Given the description of an element on the screen output the (x, y) to click on. 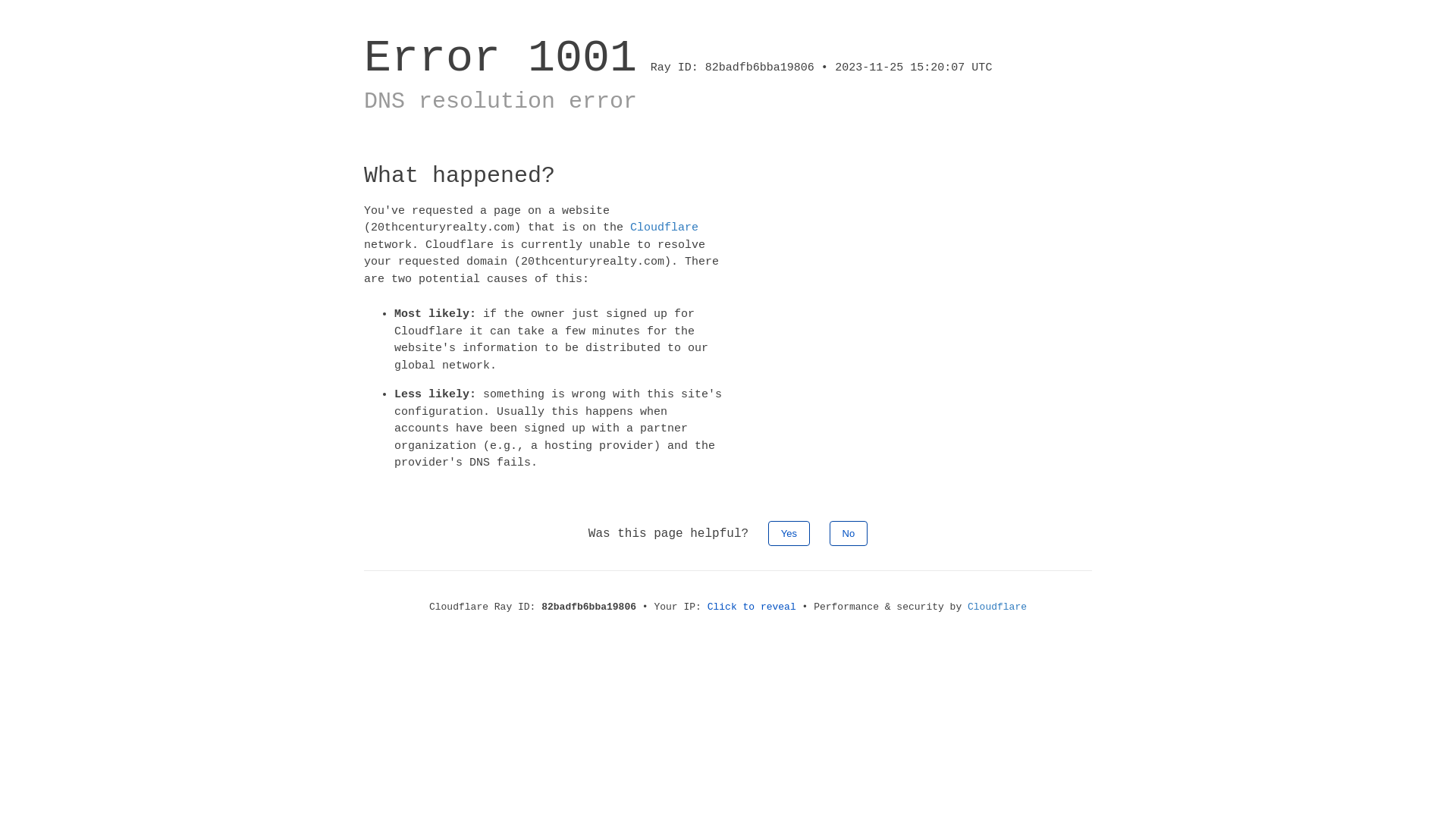
Cloudflare Element type: text (996, 605)
Cloudflare Element type: text (664, 227)
No Element type: text (848, 532)
Click to reveal Element type: text (751, 605)
Yes Element type: text (788, 532)
